Given the description of an element on the screen output the (x, y) to click on. 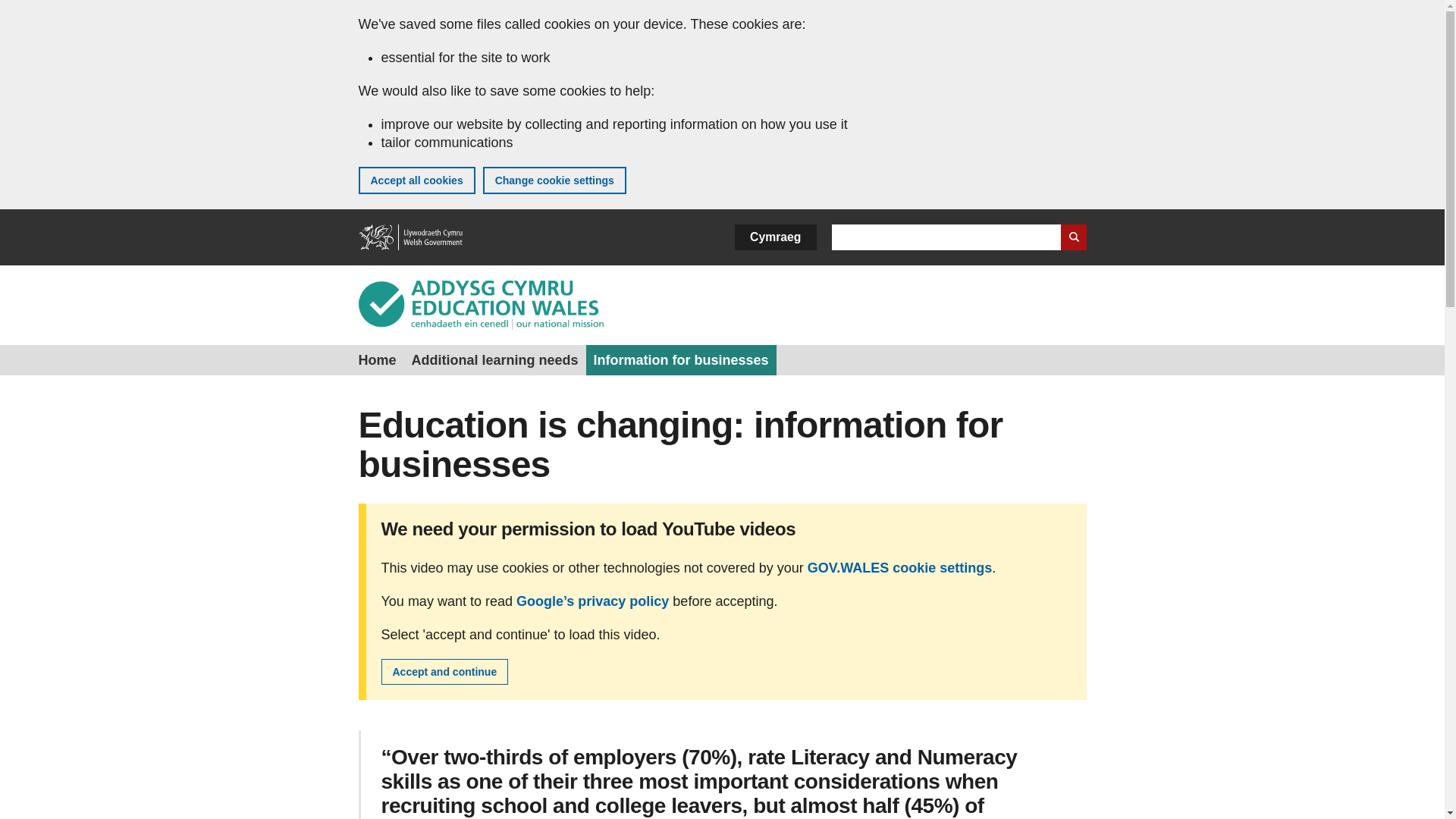
Search website (1072, 237)
Change cookie settings (554, 180)
Information for businesses (681, 359)
Welsh Government (411, 237)
Accept and continue (444, 671)
Home (411, 237)
GOV.WALES cookie settings (899, 567)
Cymraeg (775, 237)
Search website (1072, 237)
Home (376, 359)
Skip to main content (22, 11)
Additional learning needs (495, 359)
Accept all cookies (416, 180)
